Given the description of an element on the screen output the (x, y) to click on. 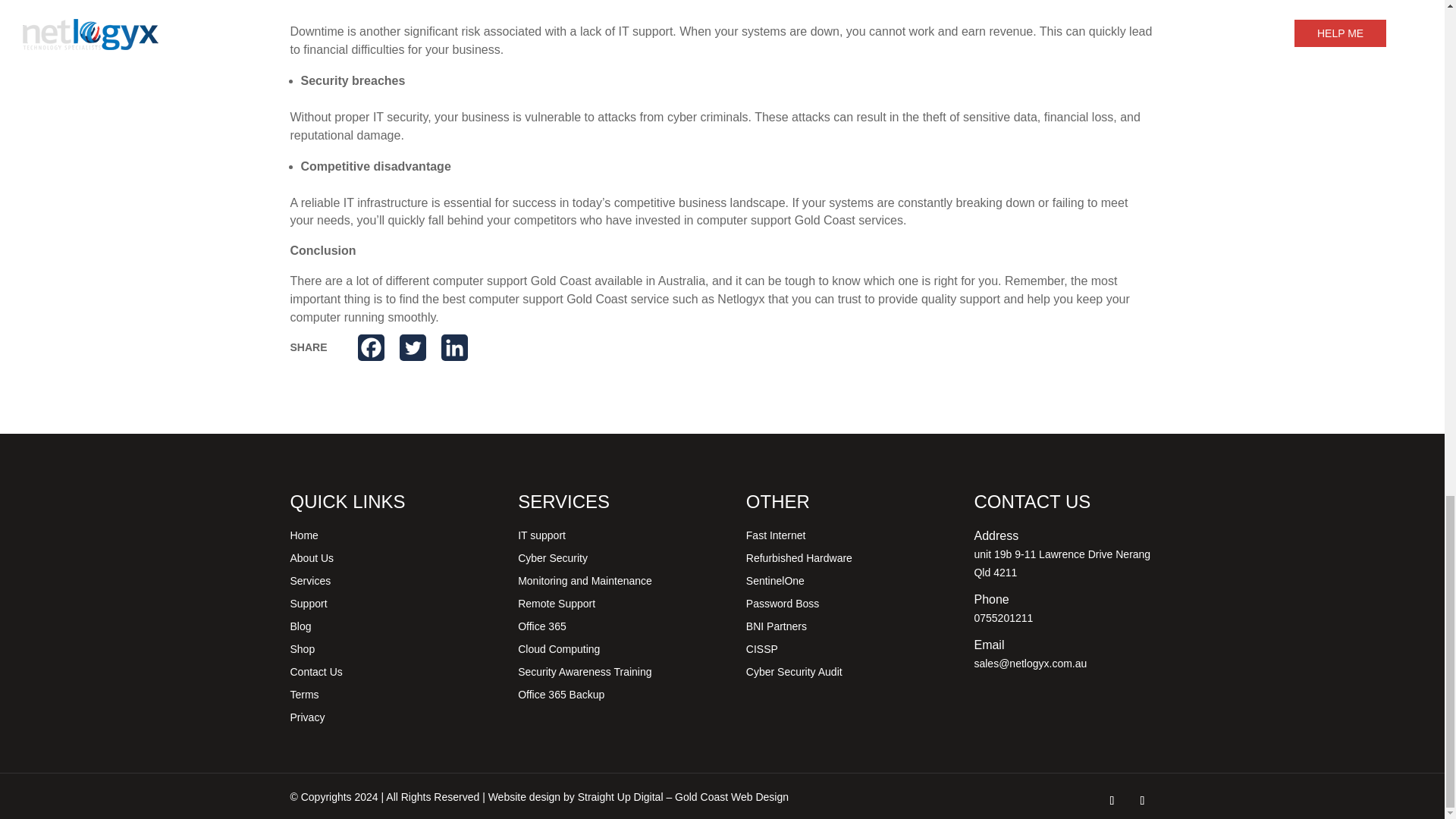
Blog (300, 629)
Twitter (412, 347)
Support (307, 606)
About Us (311, 560)
Follow on LinkedIn (1141, 800)
Linkedin (454, 347)
Home (303, 538)
Follow on Facebook (1111, 800)
Facebook (371, 347)
Services (309, 583)
